Given the description of an element on the screen output the (x, y) to click on. 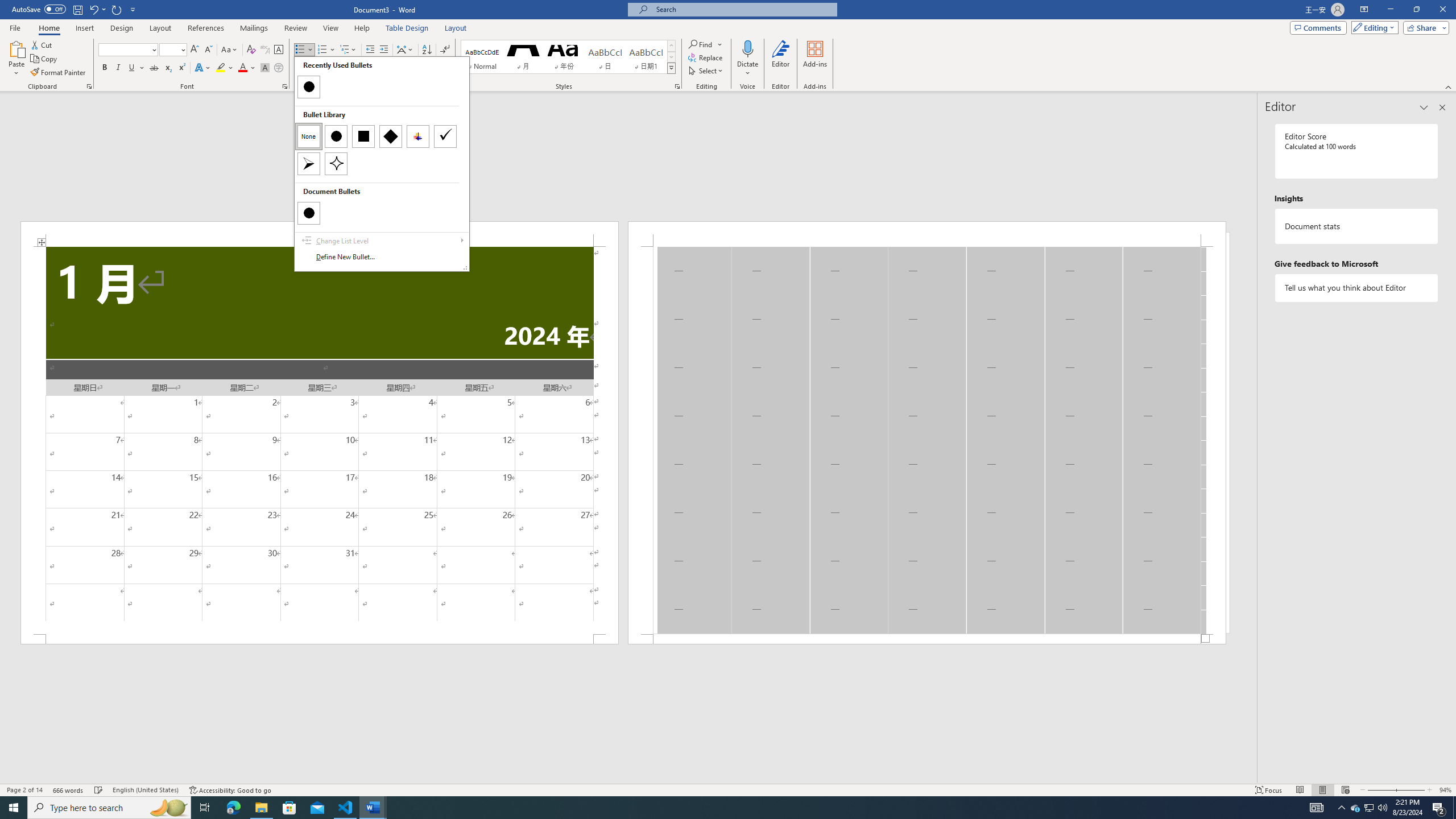
Home (48, 28)
References (205, 28)
Review (295, 28)
Zoom Out (1380, 790)
Enclose Characters... (278, 67)
Show/Hide Editing Marks (444, 49)
Find (700, 44)
Character Shading (264, 67)
Search highlights icon opens search home window (167, 807)
Font Size (172, 49)
Tell us what you think about Editor (1356, 288)
More Options (747, 68)
Text Highlight Color Yellow (220, 67)
Insert (83, 28)
